Given the description of an element on the screen output the (x, y) to click on. 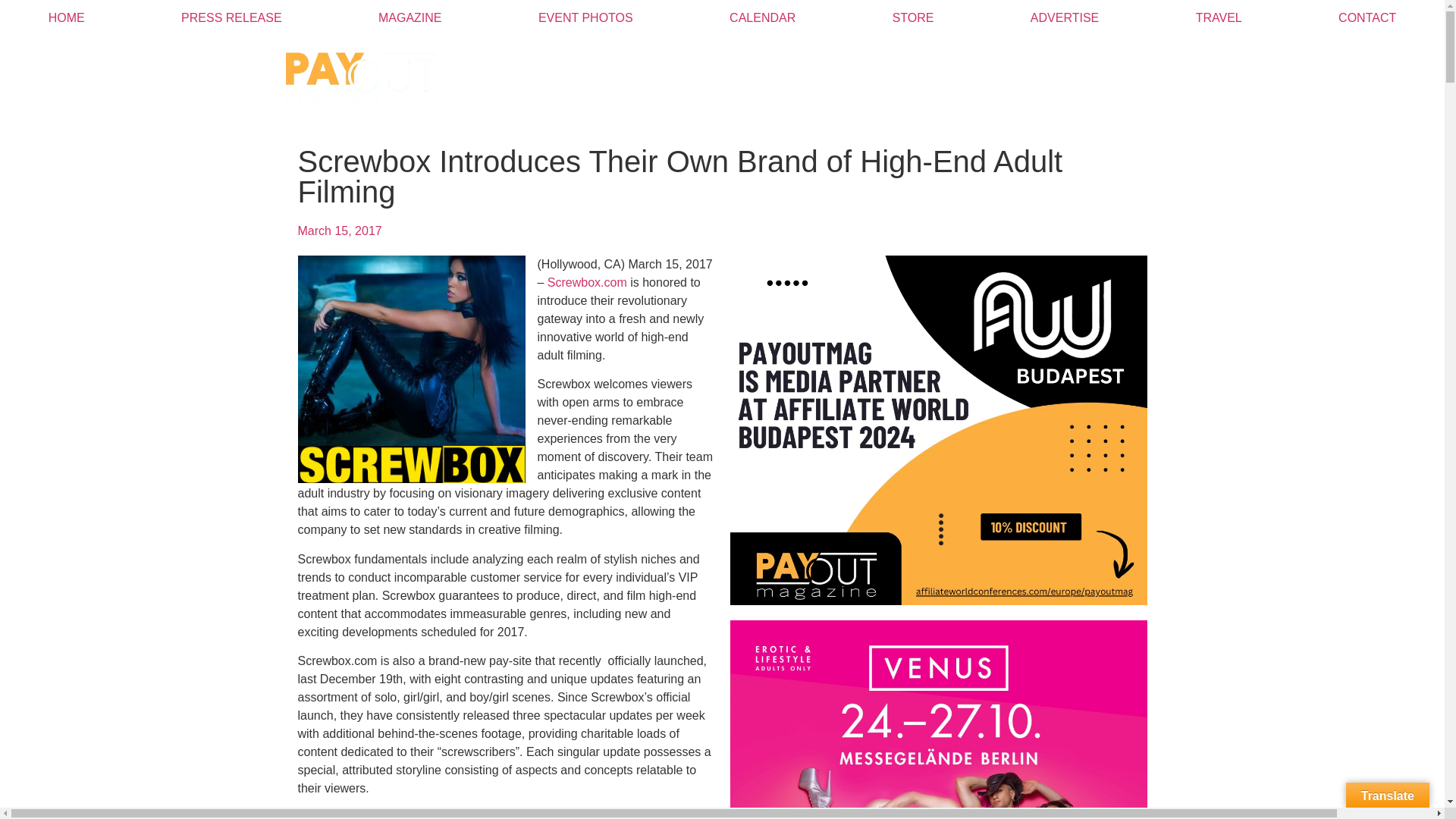
Screwbox.com (587, 282)
March 15, 2017 (339, 230)
CONTACT (1367, 18)
TRAVEL (1218, 18)
STORE (912, 18)
MAGAZINE (409, 18)
HOME (66, 18)
EVENT PHOTOS (585, 18)
CALENDAR (762, 18)
PRESS RELEASE (231, 18)
